Given the description of an element on the screen output the (x, y) to click on. 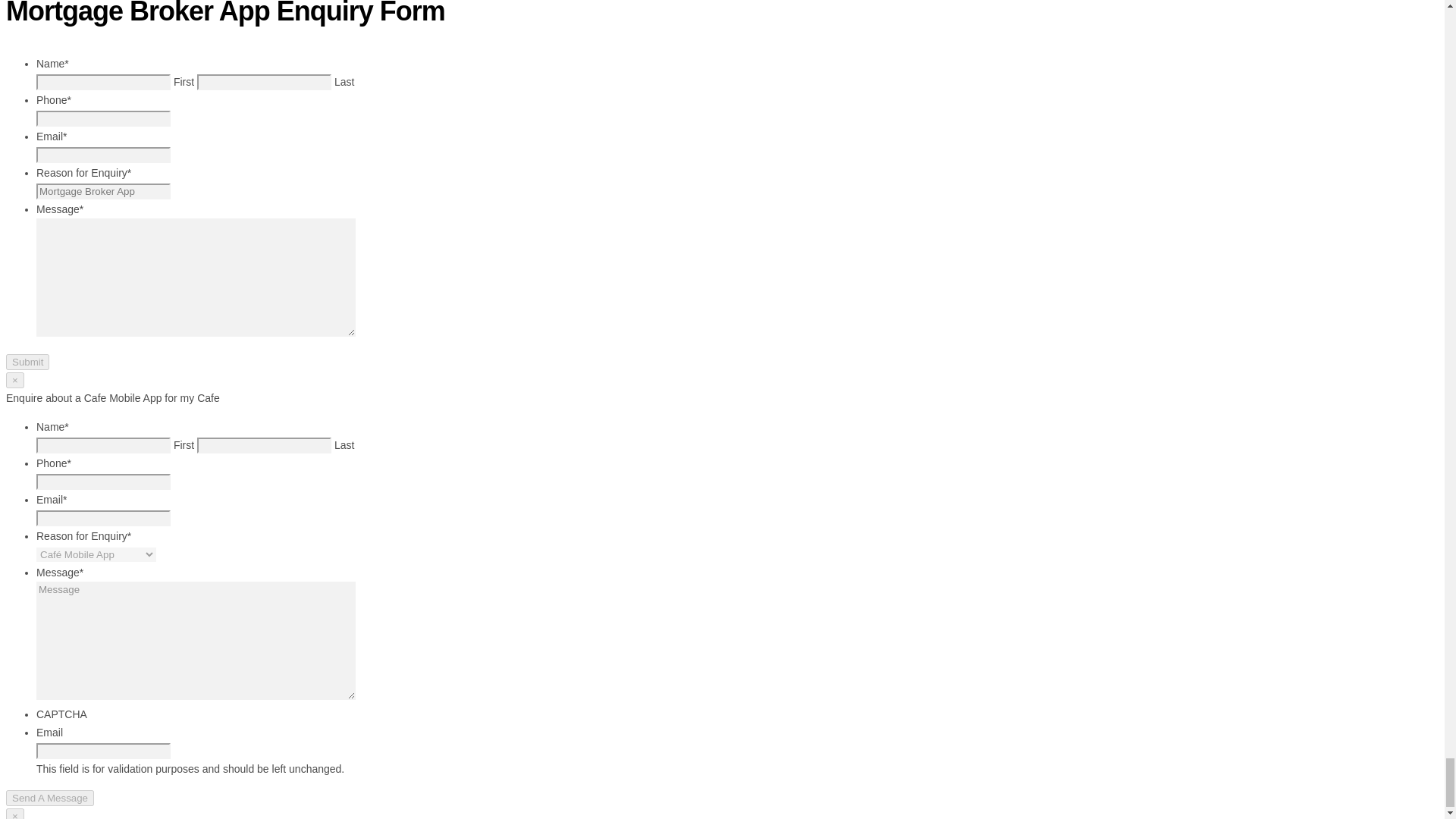
Mortgage Broker App  (103, 191)
Send A Message (49, 797)
Submit (27, 361)
